Given the description of an element on the screen output the (x, y) to click on. 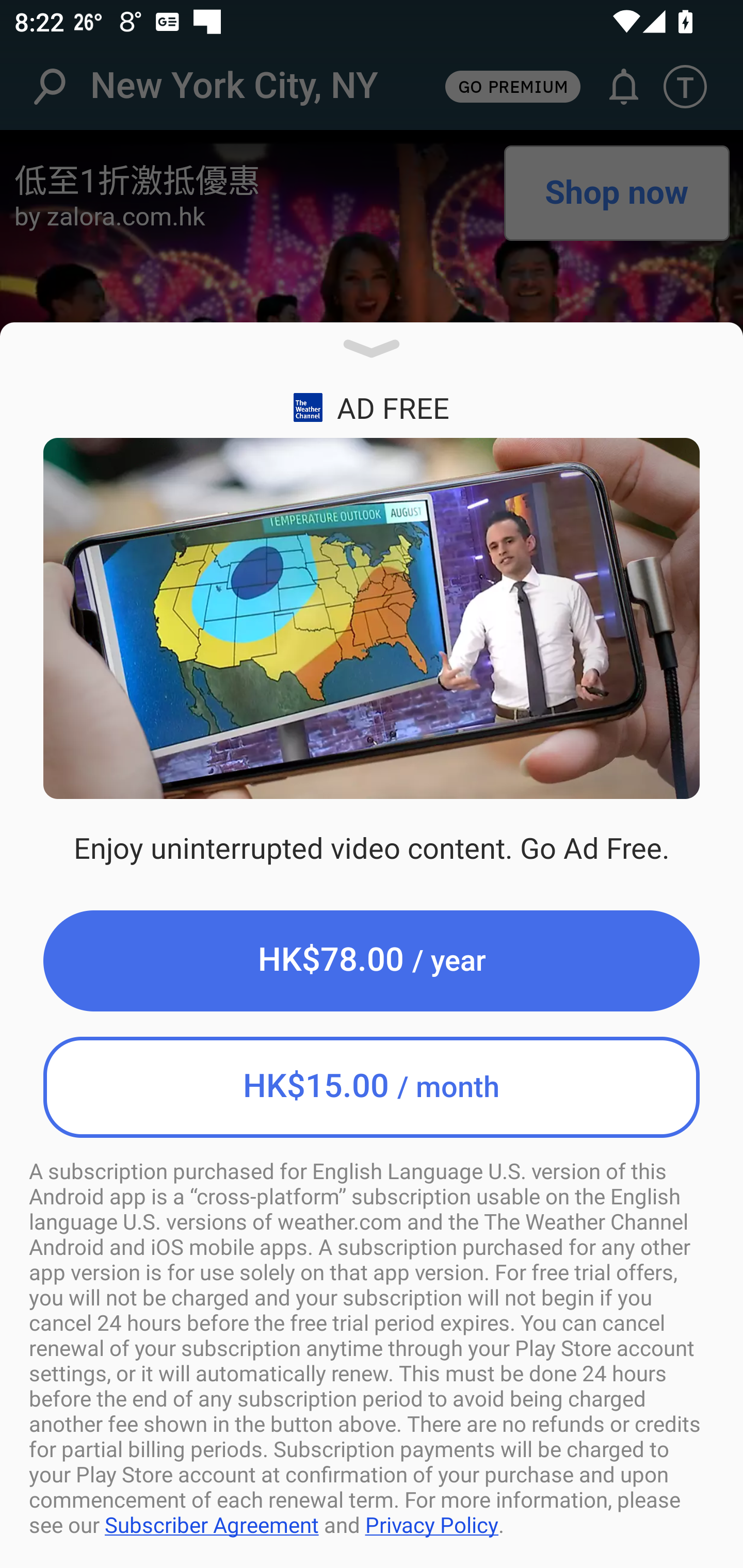
minimize (371, 355)
Logo icon AD FREE (371, 406)
HK$78.00 / year (371, 961)
HK$15.00 / month (371, 1087)
